Given the description of an element on the screen output the (x, y) to click on. 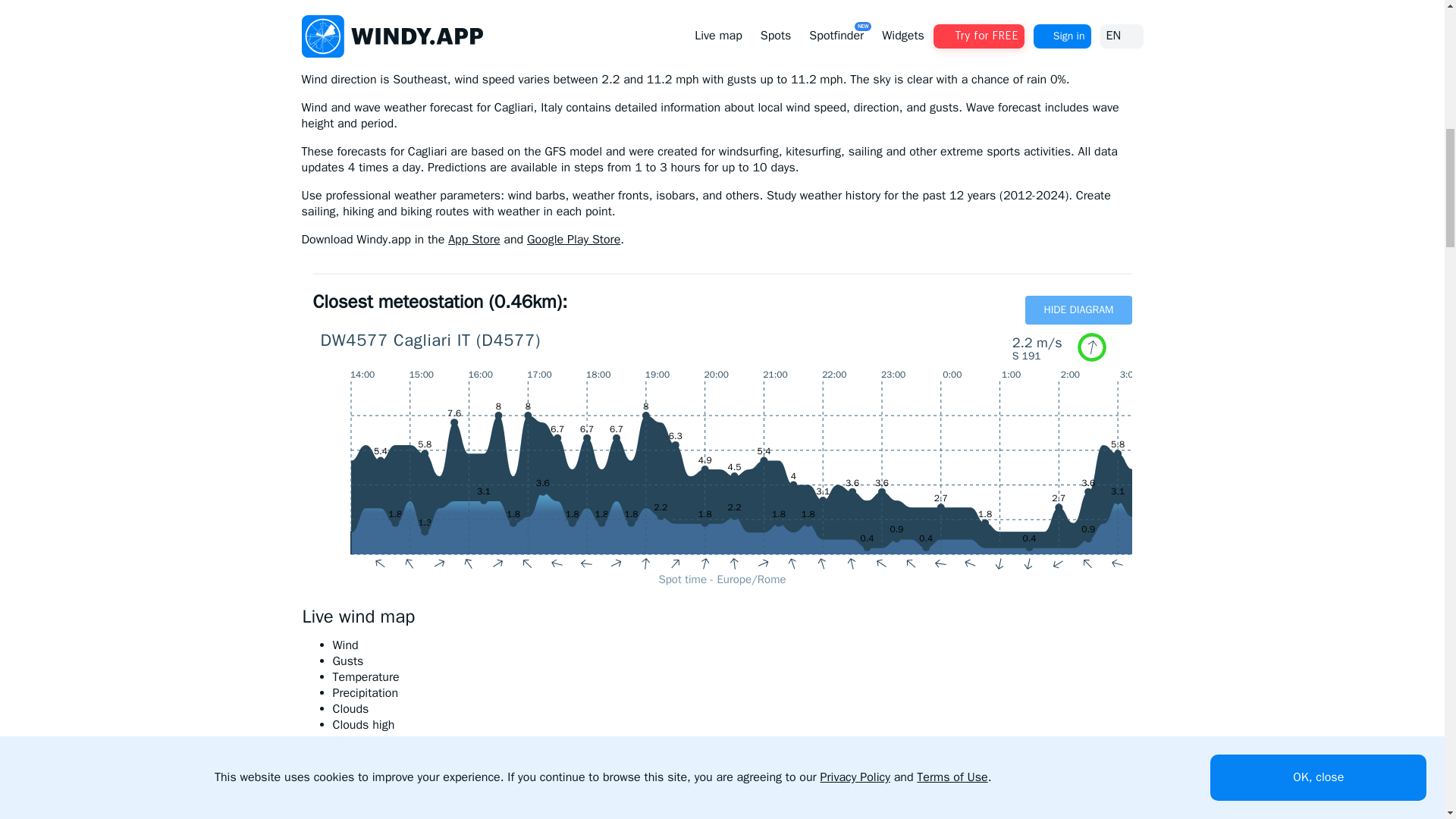
Google Play Store (573, 239)
Wind gusts speed (736, 661)
Air Temperature (736, 677)
Wind speed (736, 645)
Precipitation rate (736, 693)
Show QR code (473, 239)
Total cloud cover (736, 709)
Show QR code (573, 239)
Install on your site (1092, 27)
Total cloud cover high (736, 725)
